Given the description of an element on the screen output the (x, y) to click on. 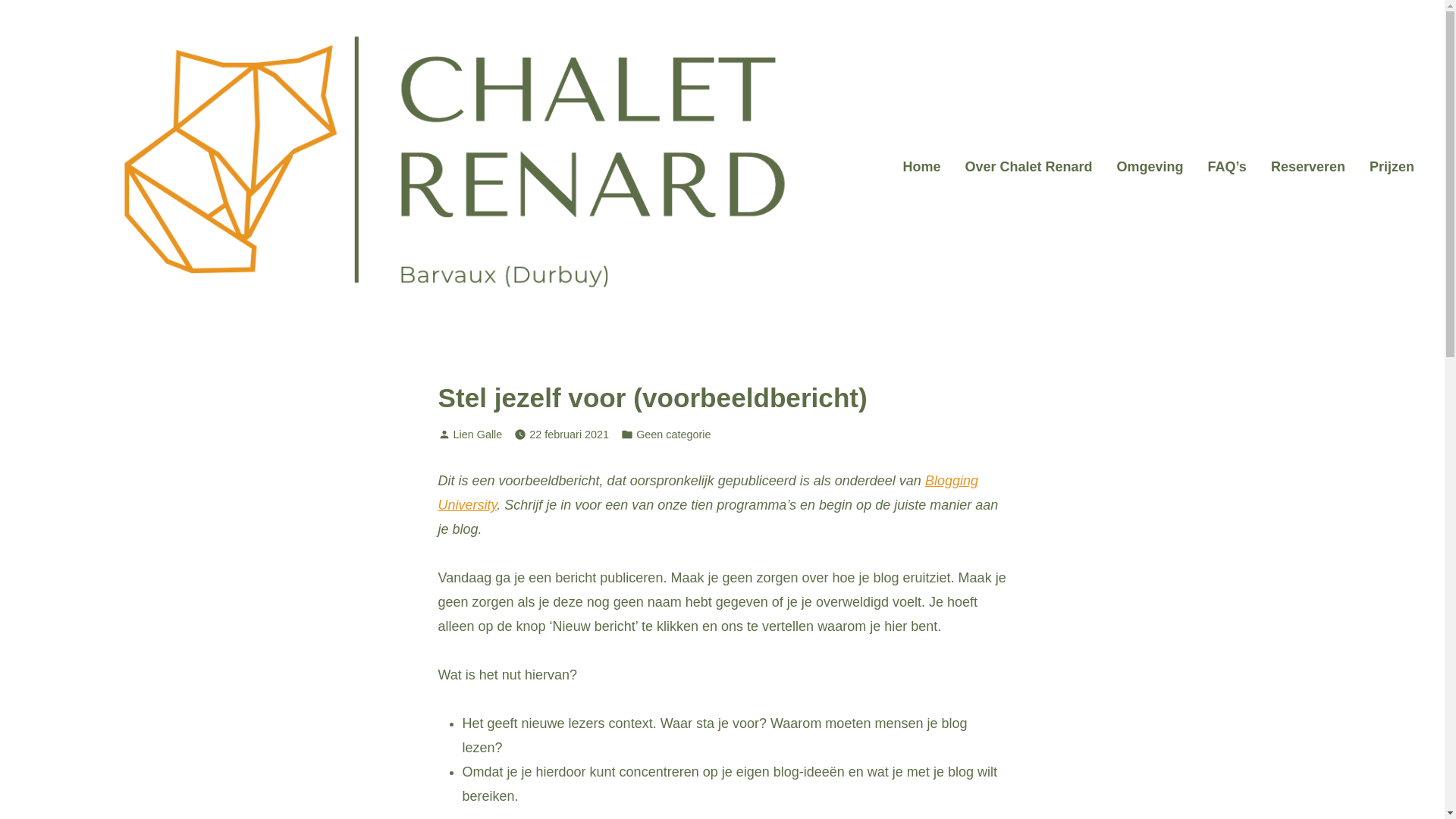
Over Chalet Renard Element type: text (1028, 166)
Reserveren Element type: text (1307, 166)
Prijzen Element type: text (1391, 166)
Lien Galle Element type: text (477, 434)
Home Element type: text (921, 166)
Blogging University Element type: text (708, 492)
Geen categorie Element type: text (673, 435)
Chaletrenardbarvaux Element type: text (109, 335)
22 februari 2021 Element type: text (568, 435)
Omgeving Element type: text (1149, 166)
